Given the description of an element on the screen output the (x, y) to click on. 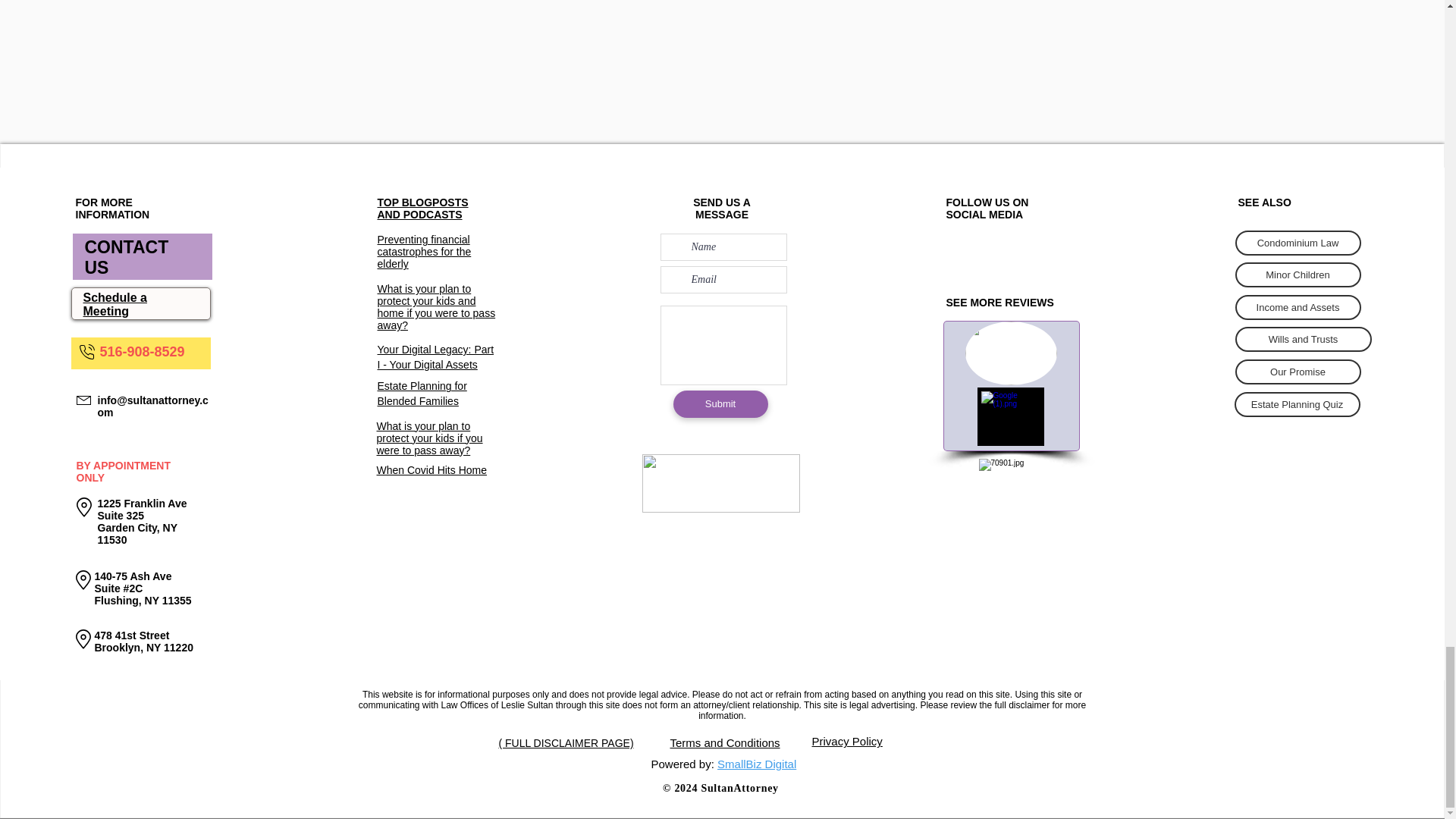
Lawpay image button.png (720, 483)
Your Digital Legacy: Part I - Your Digital Assets (436, 357)
Preventing financial catastrophes for the elderly (424, 251)
61.png (1010, 490)
Estate Planning for Blended Families (422, 393)
Submit (720, 403)
When Covid Hits Home (430, 469)
TOP BLOGPOSTS AND PODCASTS (422, 208)
